Given the description of an element on the screen output the (x, y) to click on. 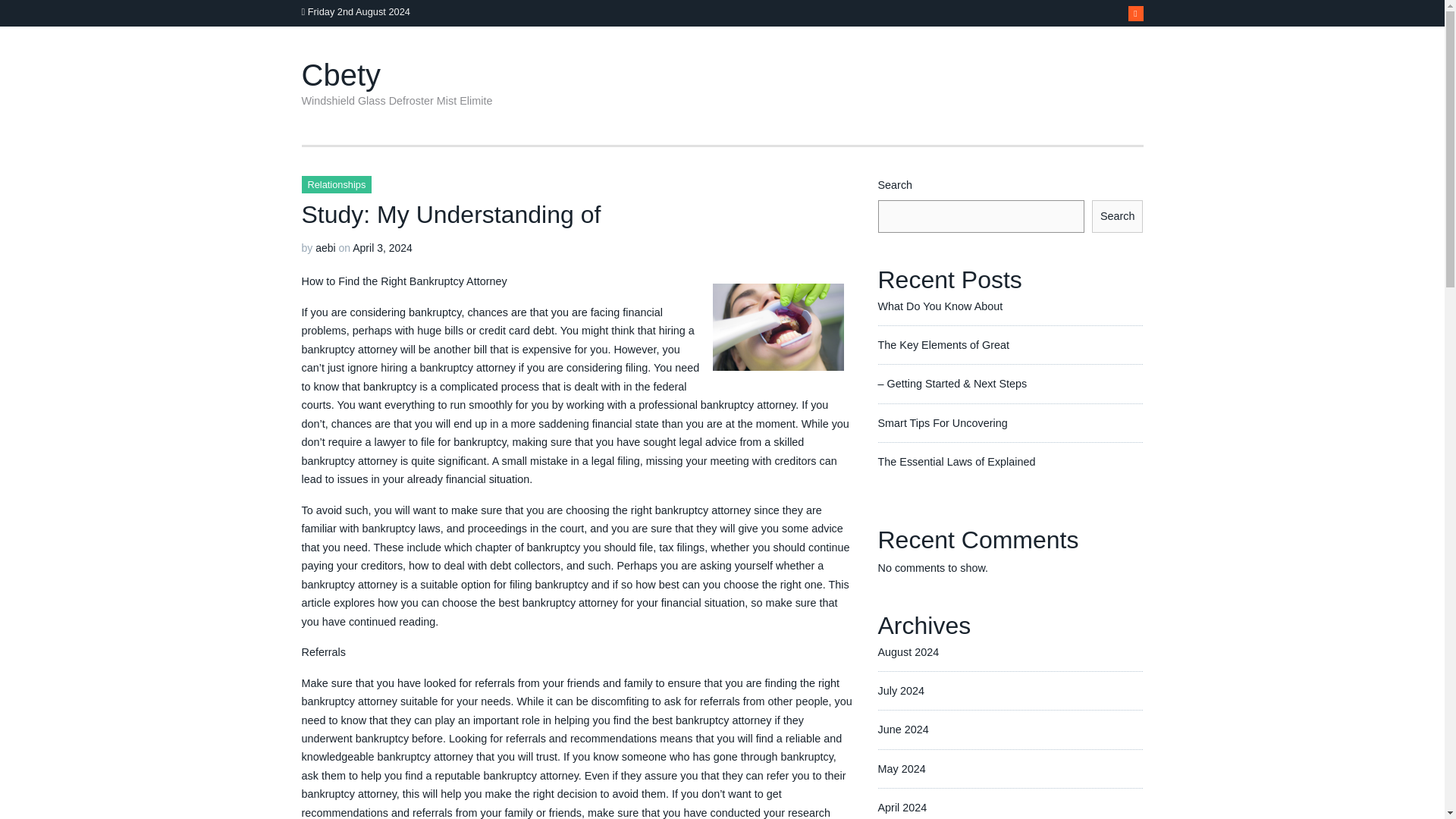
July 2024 (900, 690)
Relationships (336, 184)
Smart Tips For Uncovering (942, 422)
April 2024 (902, 807)
What Do You Know About (940, 306)
Cbety (341, 74)
aebi (324, 247)
April 3, 2024 (382, 247)
The Essential Laws of Explained (956, 461)
June 2024 (902, 729)
August 2024 (908, 652)
May 2024 (901, 768)
Search (1117, 215)
Cbety (341, 74)
The Key Elements of Great (943, 345)
